Given the description of an element on the screen output the (x, y) to click on. 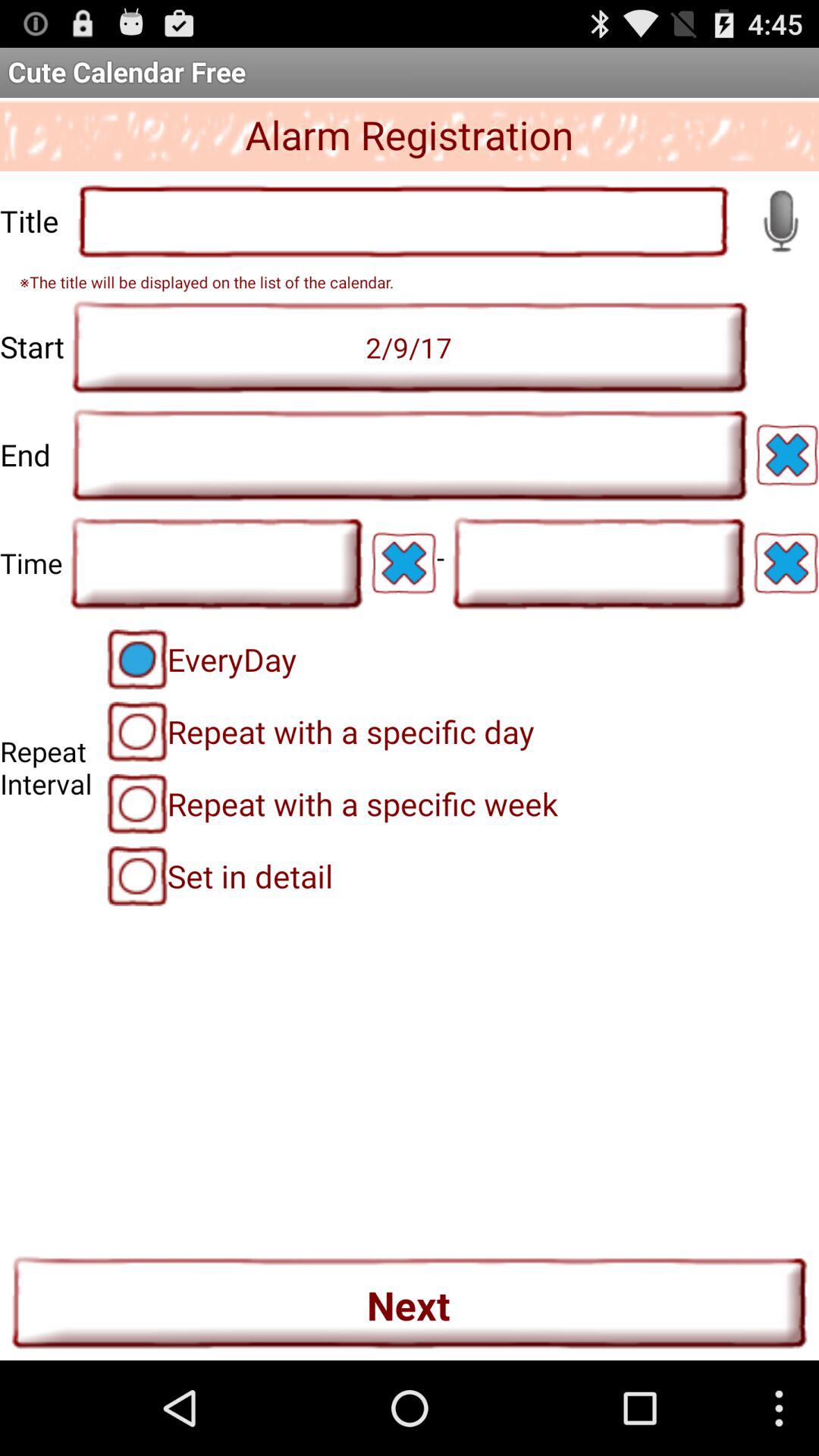
delete field entry (787, 454)
